Given the description of an element on the screen output the (x, y) to click on. 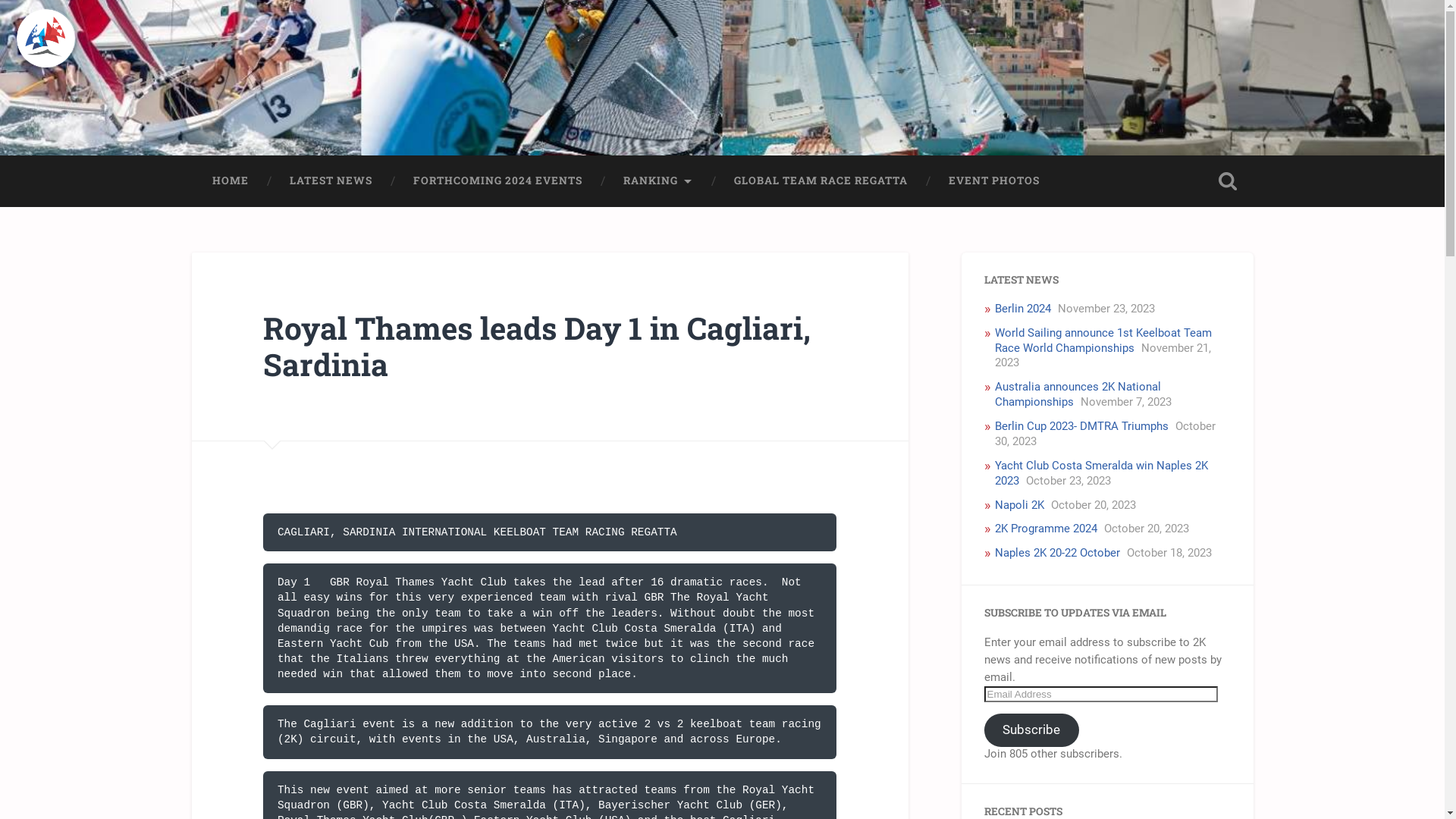
Naples 2K 20-22 October Element type: text (1057, 552)
GLOBAL TEAM RACE REGATTA Element type: text (819, 181)
Berlin 2024 Element type: text (1022, 308)
FORTHCOMING 2024 EVENTS Element type: text (497, 181)
Berlin Cup 2023- DMTRA Triumphs Element type: text (1081, 426)
Subscribe Element type: text (1031, 729)
Napoli 2K Element type: text (1019, 504)
2K Programme 2024 Element type: text (1045, 528)
RANKING Element type: text (657, 181)
Royal Thames leads Day 1 in Cagliari, Sardinia Element type: text (536, 346)
EVENT PHOTOS Element type: text (994, 181)
Australia announces 2K National Championships Element type: text (1077, 393)
HOME Element type: text (229, 181)
LATEST NEWS Element type: text (330, 181)
Yacht Club Costa Smeralda win Naples 2K 2023 Element type: text (1101, 472)
